Given the description of an element on the screen output the (x, y) to click on. 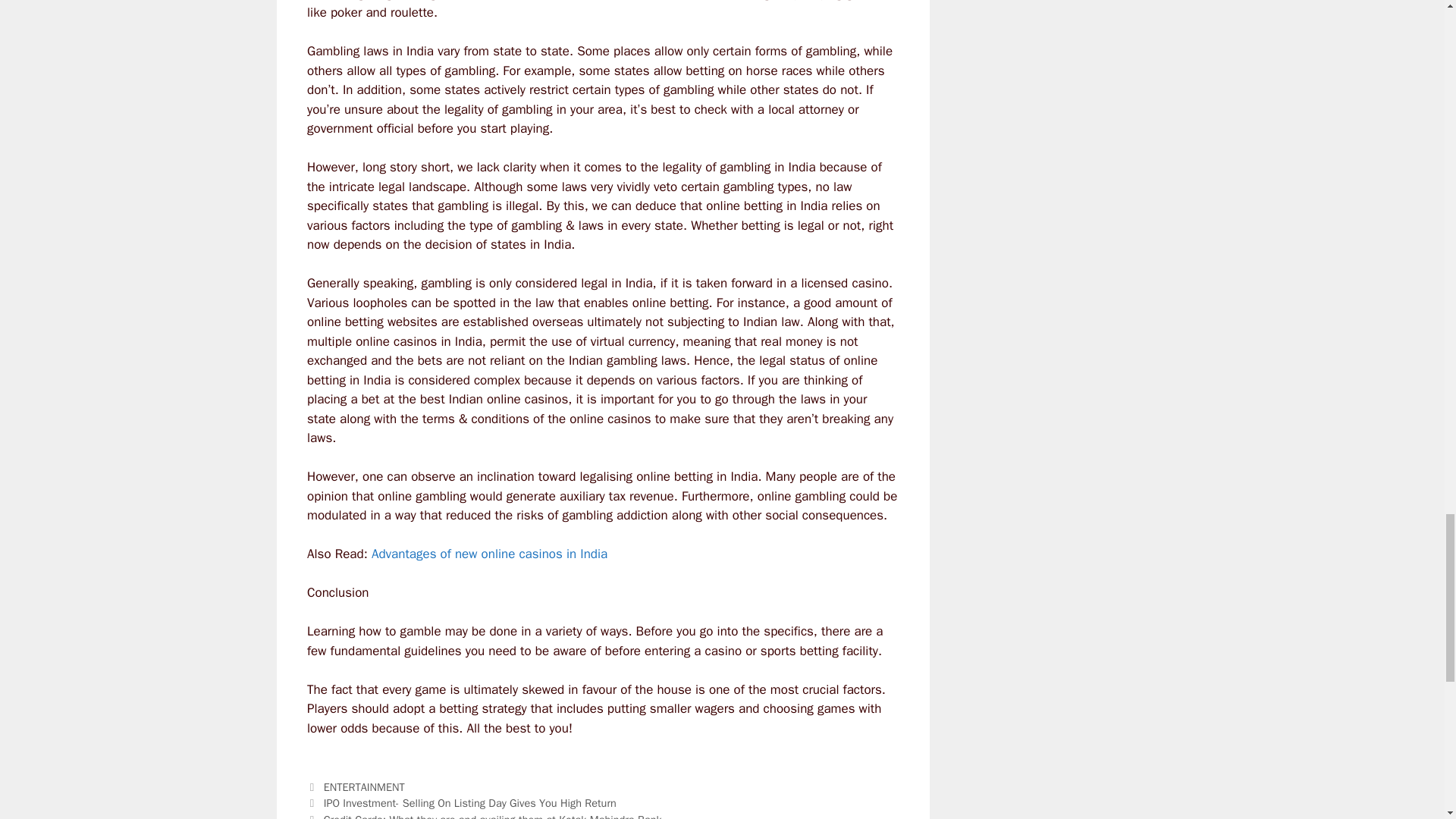
ENTERTAINMENT (363, 786)
IPO Investment- Selling On Listing Day Gives You High Return (469, 802)
Advantages of new online casinos in India (489, 553)
